Given the description of an element on the screen output the (x, y) to click on. 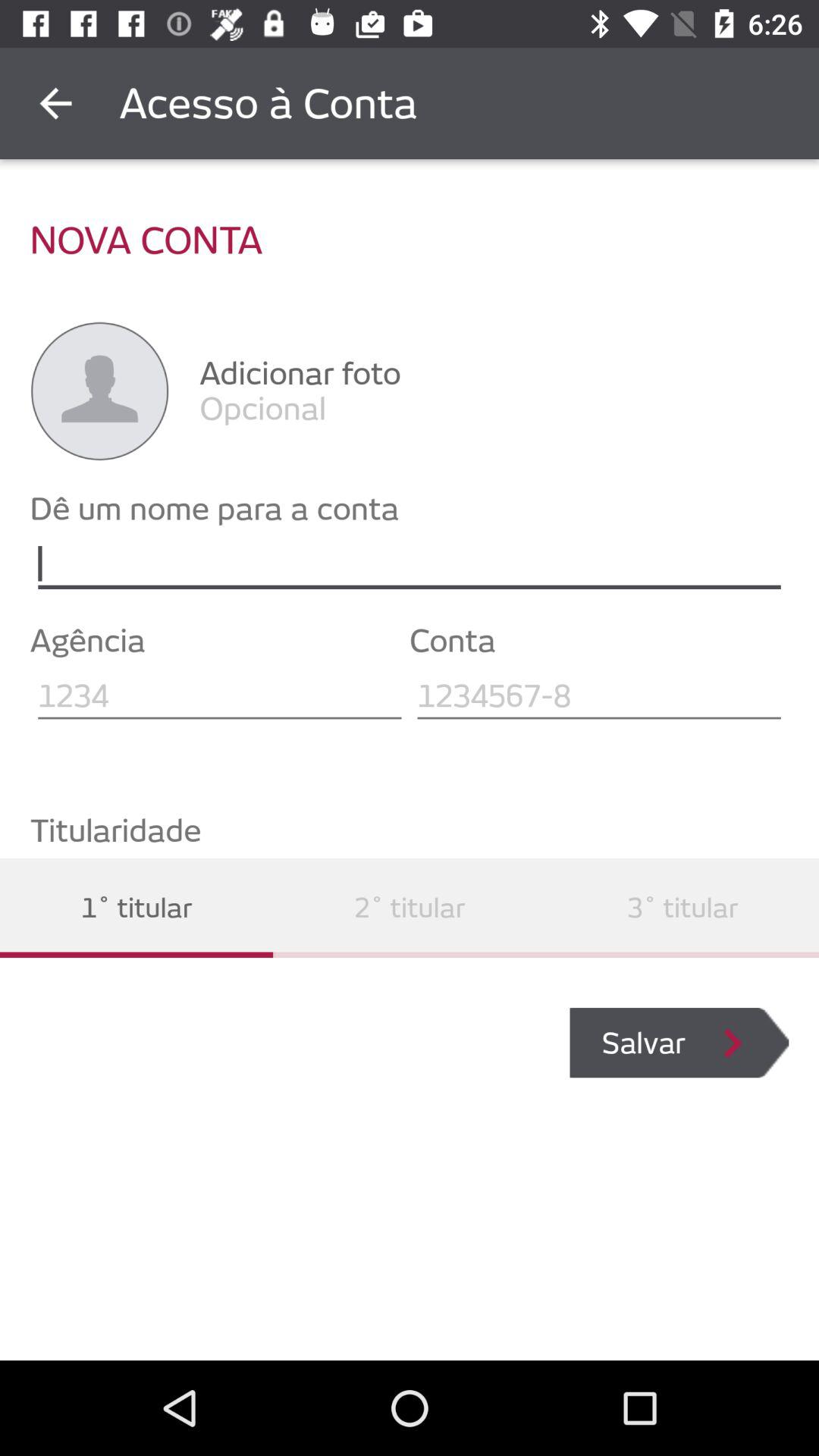
zip code (598, 696)
